Given the description of an element on the screen output the (x, y) to click on. 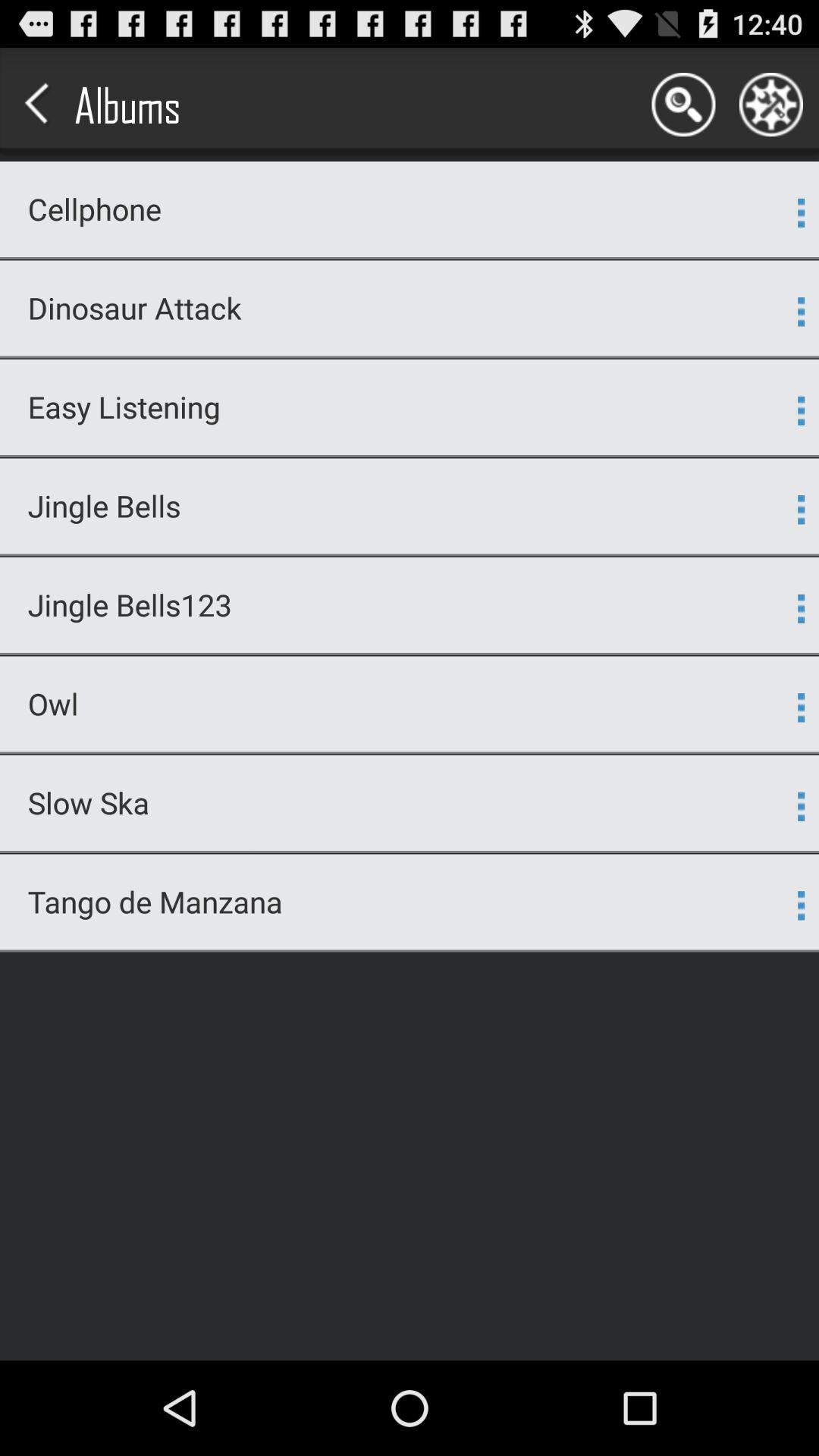
select item next to tango de manzana app (800, 905)
